Given the description of an element on the screen output the (x, y) to click on. 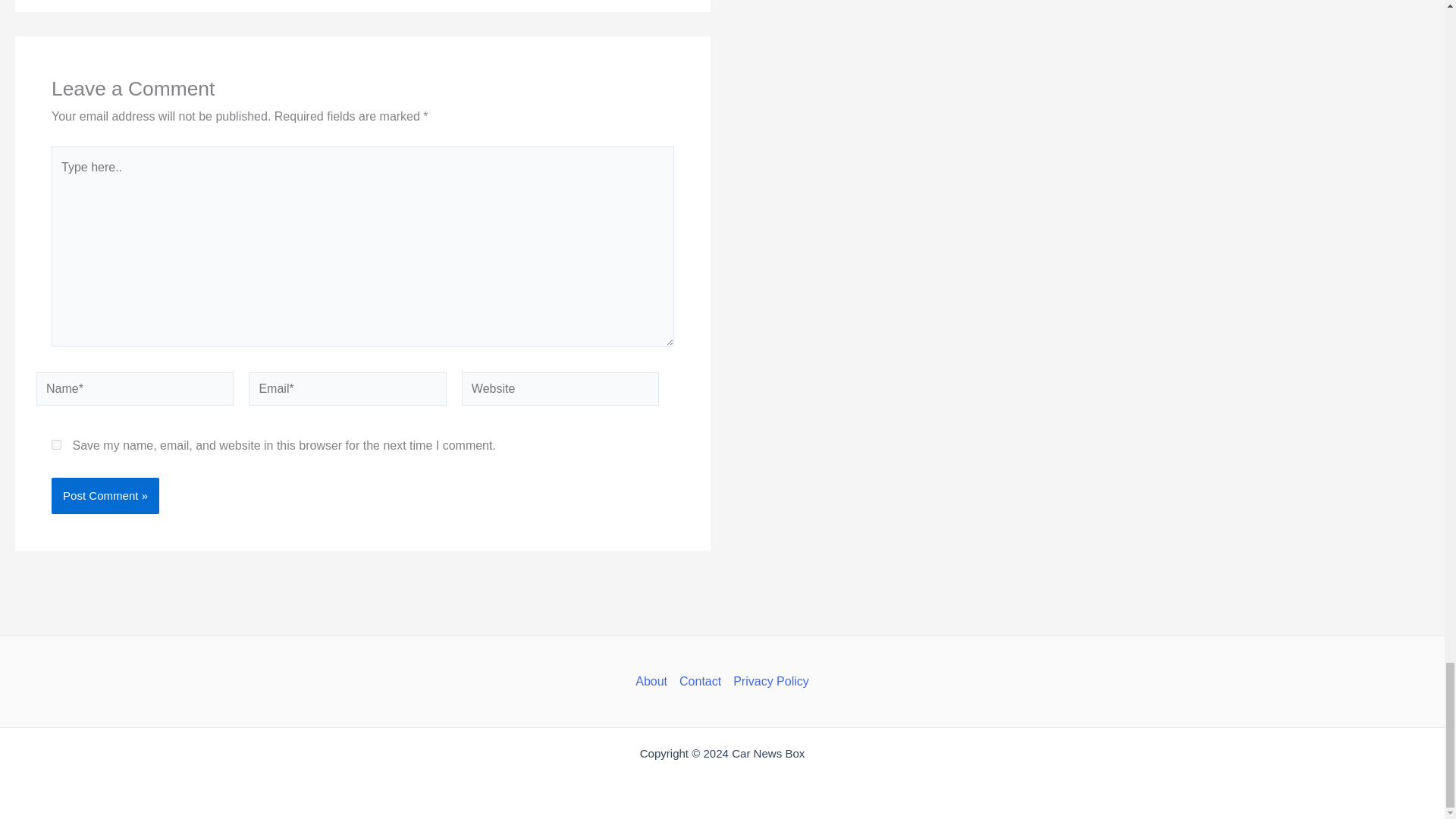
About (653, 681)
Privacy Policy (767, 681)
Contact (699, 681)
yes (55, 444)
